Given the description of an element on the screen output the (x, y) to click on. 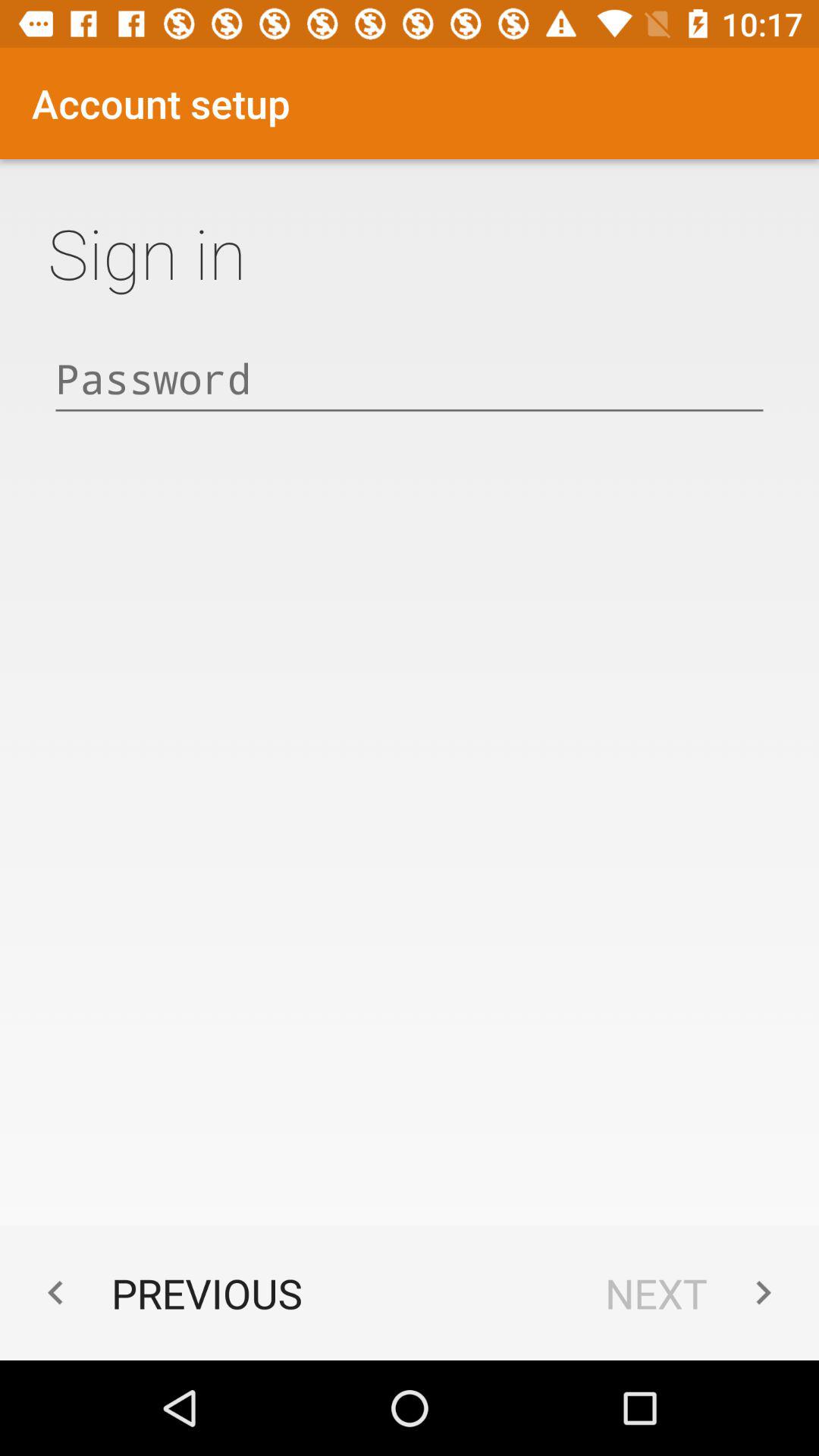
tap the previous at the bottom left corner (166, 1292)
